Given the description of an element on the screen output the (x, y) to click on. 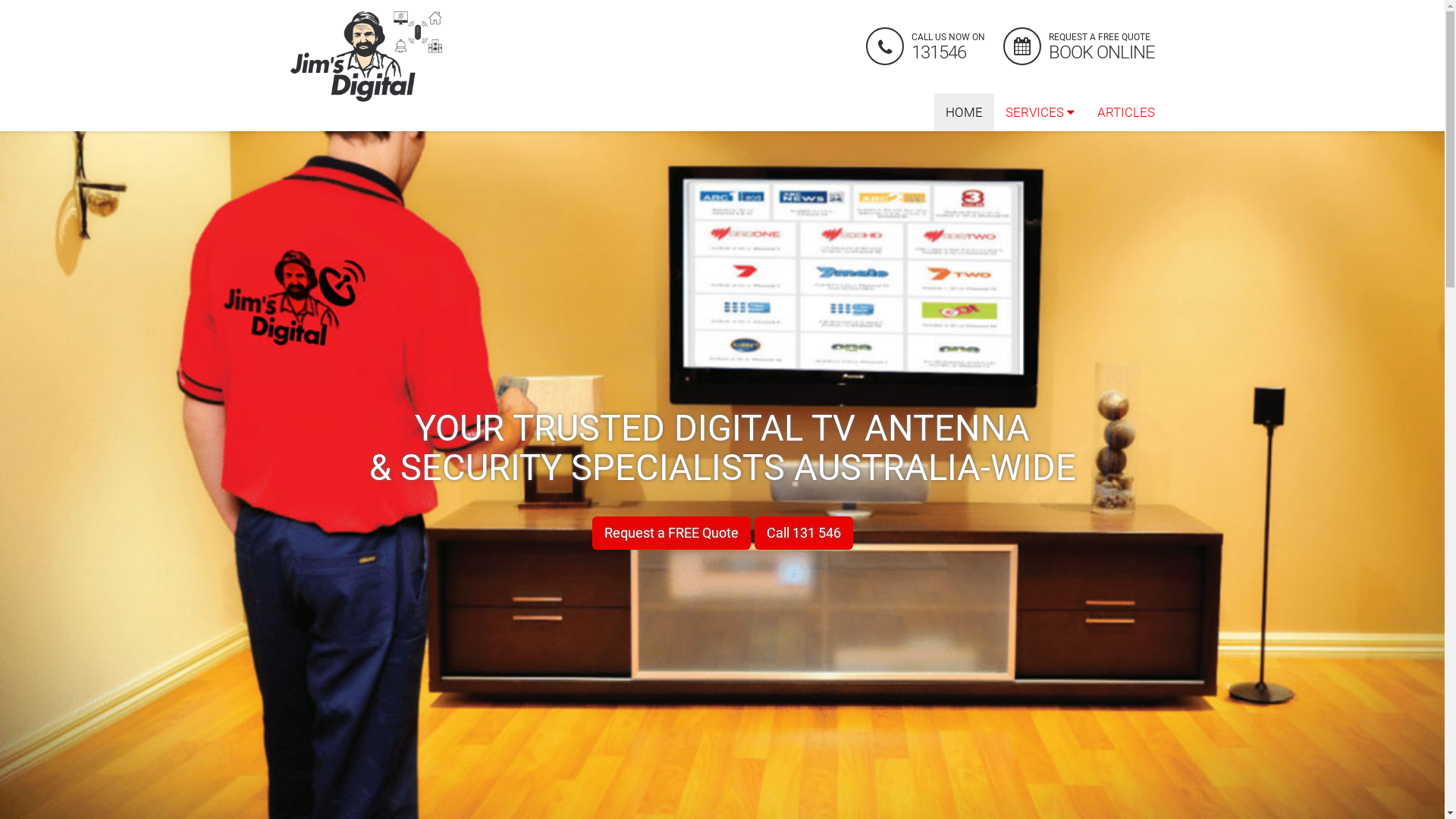
HOME Element type: text (964, 112)
ARTICLES Element type: text (1125, 112)
SERVICES Element type: text (1039, 112)
jims-digital-logo Element type: hover (365, 56)
Request a FREE Quote Element type: text (670, 532)
Call 131 546 Element type: text (802, 532)
